Given the description of an element on the screen output the (x, y) to click on. 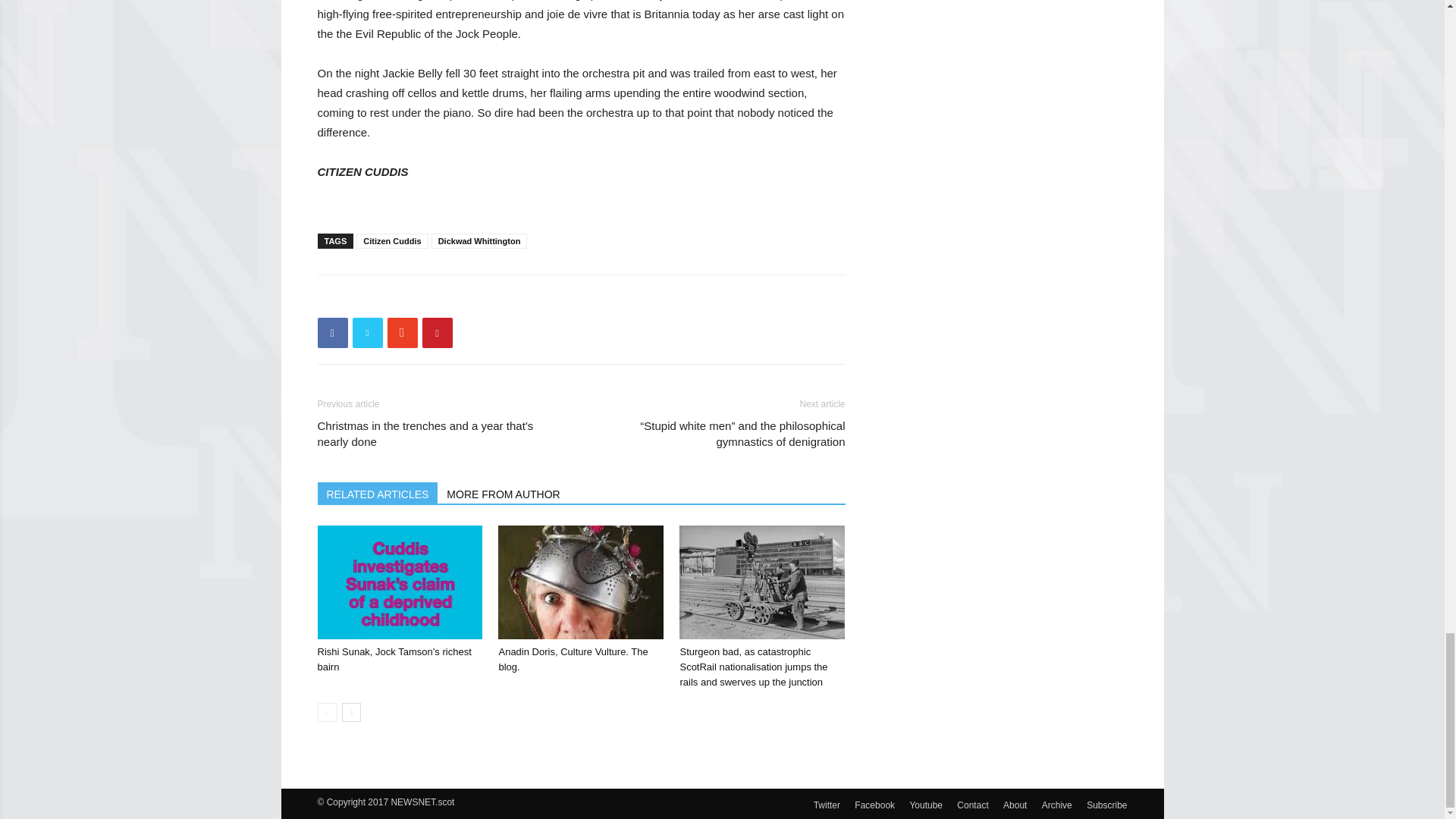
Anadin Doris, Culture Vulture. The blog. (580, 582)
Citizen Cuddis (392, 240)
Dickwad Whittington (478, 240)
Anadin Doris, Culture Vulture. The blog. (572, 659)
